Given the description of an element on the screen output the (x, y) to click on. 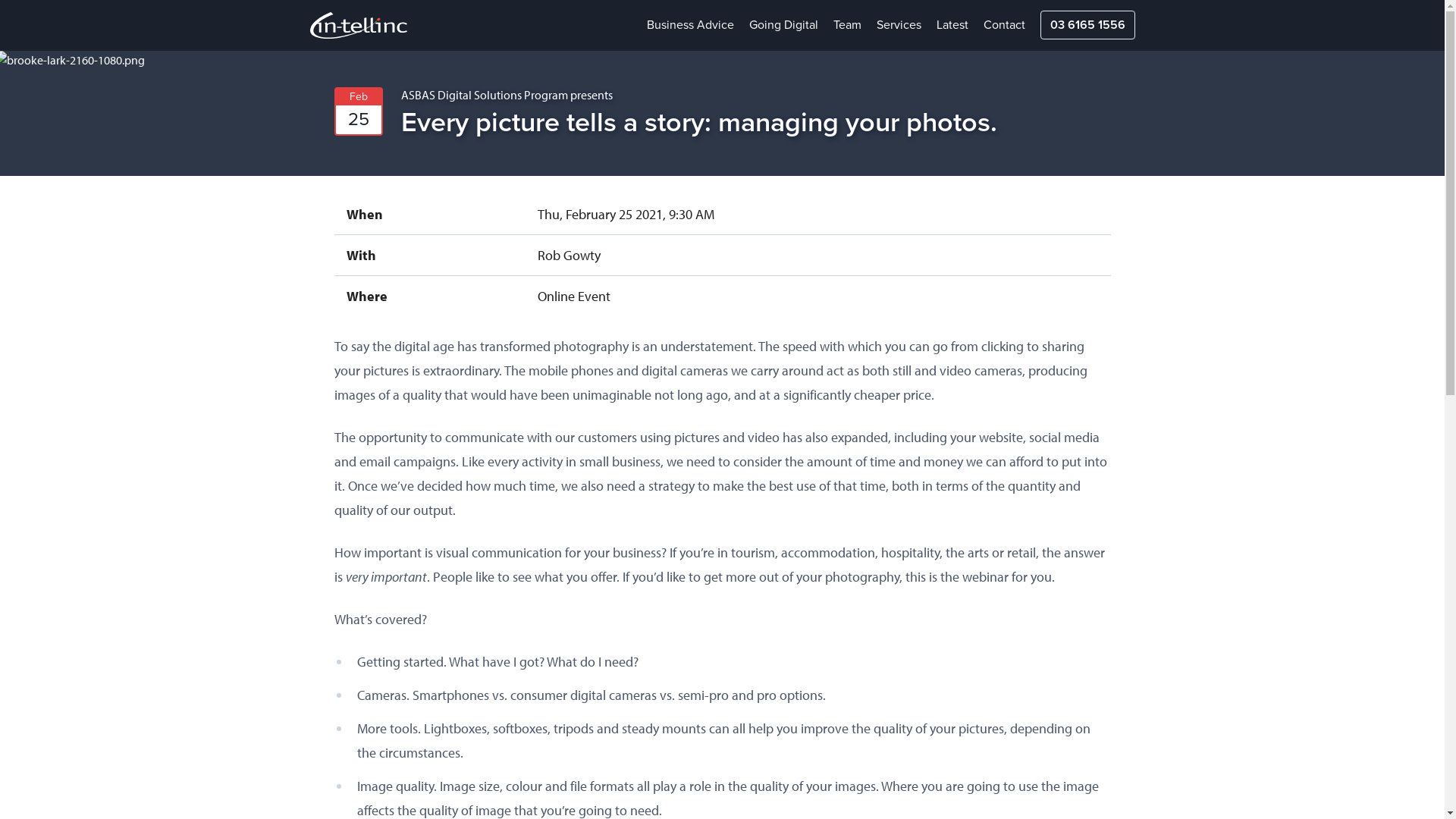
Latest Element type: text (951, 24)
Services Element type: text (898, 24)
Going Digital Element type: text (783, 24)
03 6165 1556 Element type: text (1087, 24)
Business Advice Element type: text (689, 24)
Contact Element type: text (1003, 24)
Team Element type: text (846, 24)
In-tellinc Element type: hover (403, 25)
